Given the description of an element on the screen output the (x, y) to click on. 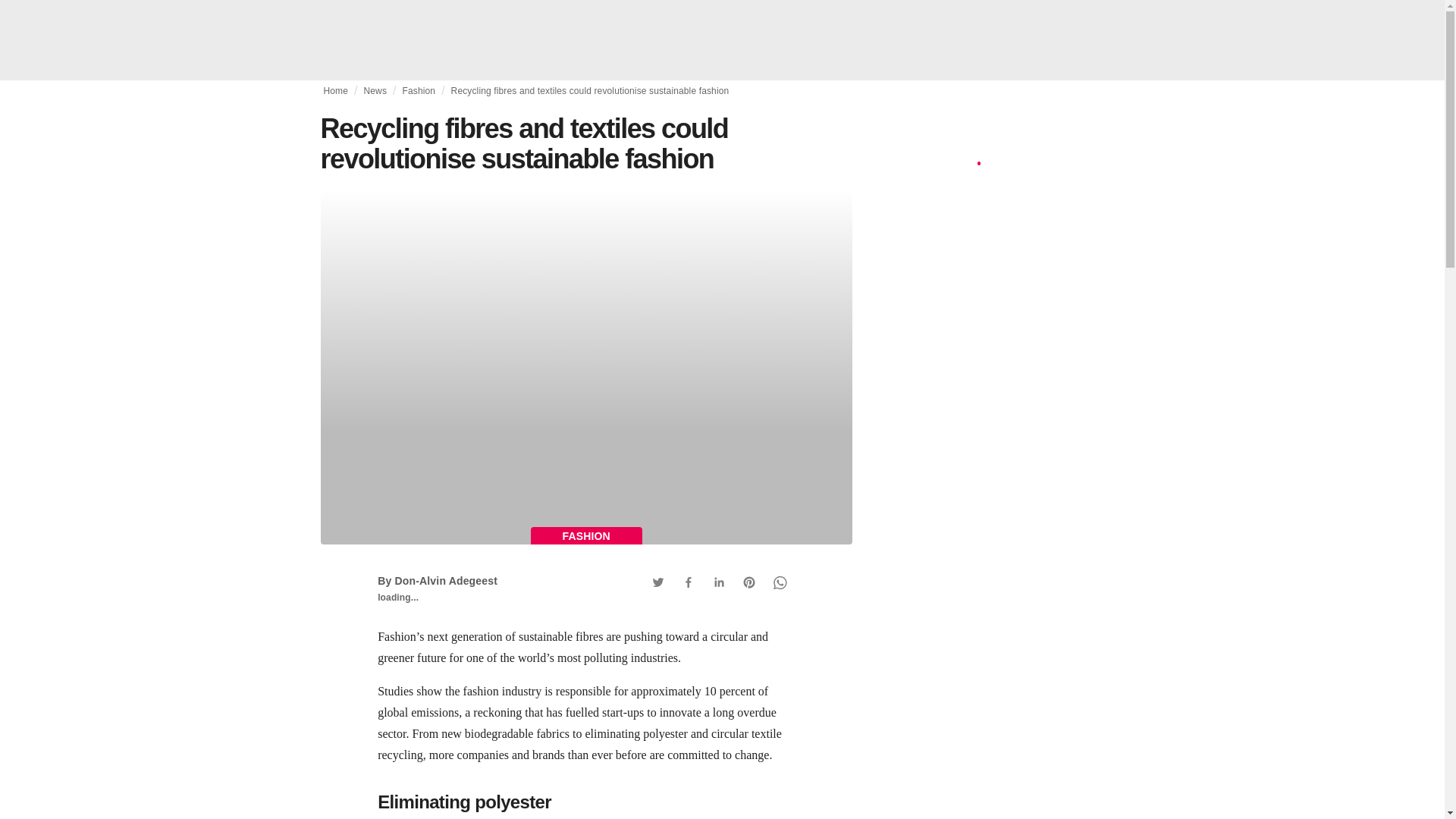
Fashion (418, 90)
Home (335, 90)
News (375, 90)
By Don-Alvin Adegeest (437, 580)
